Given the description of an element on the screen output the (x, y) to click on. 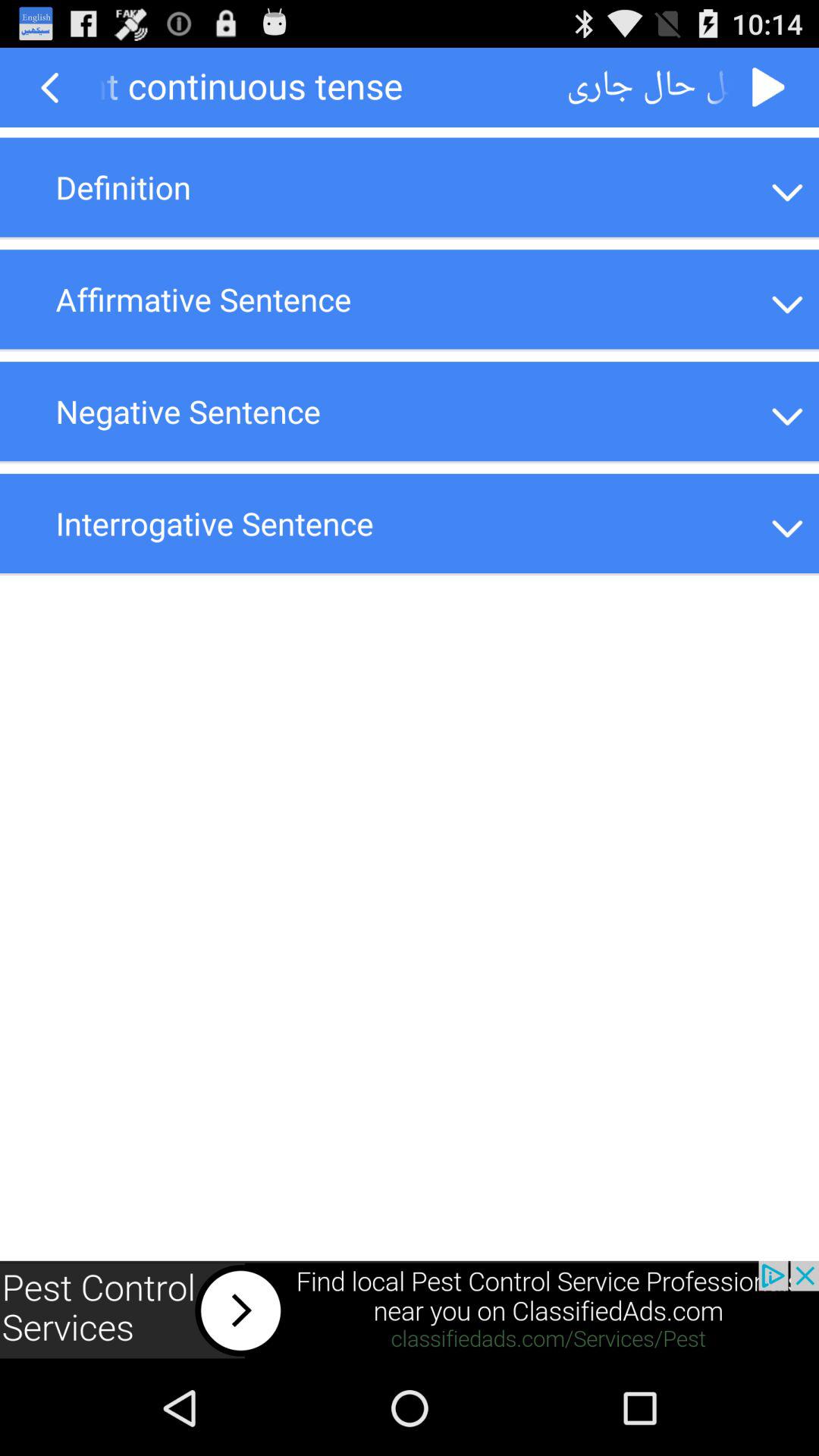
go forward (768, 87)
